Given the description of an element on the screen output the (x, y) to click on. 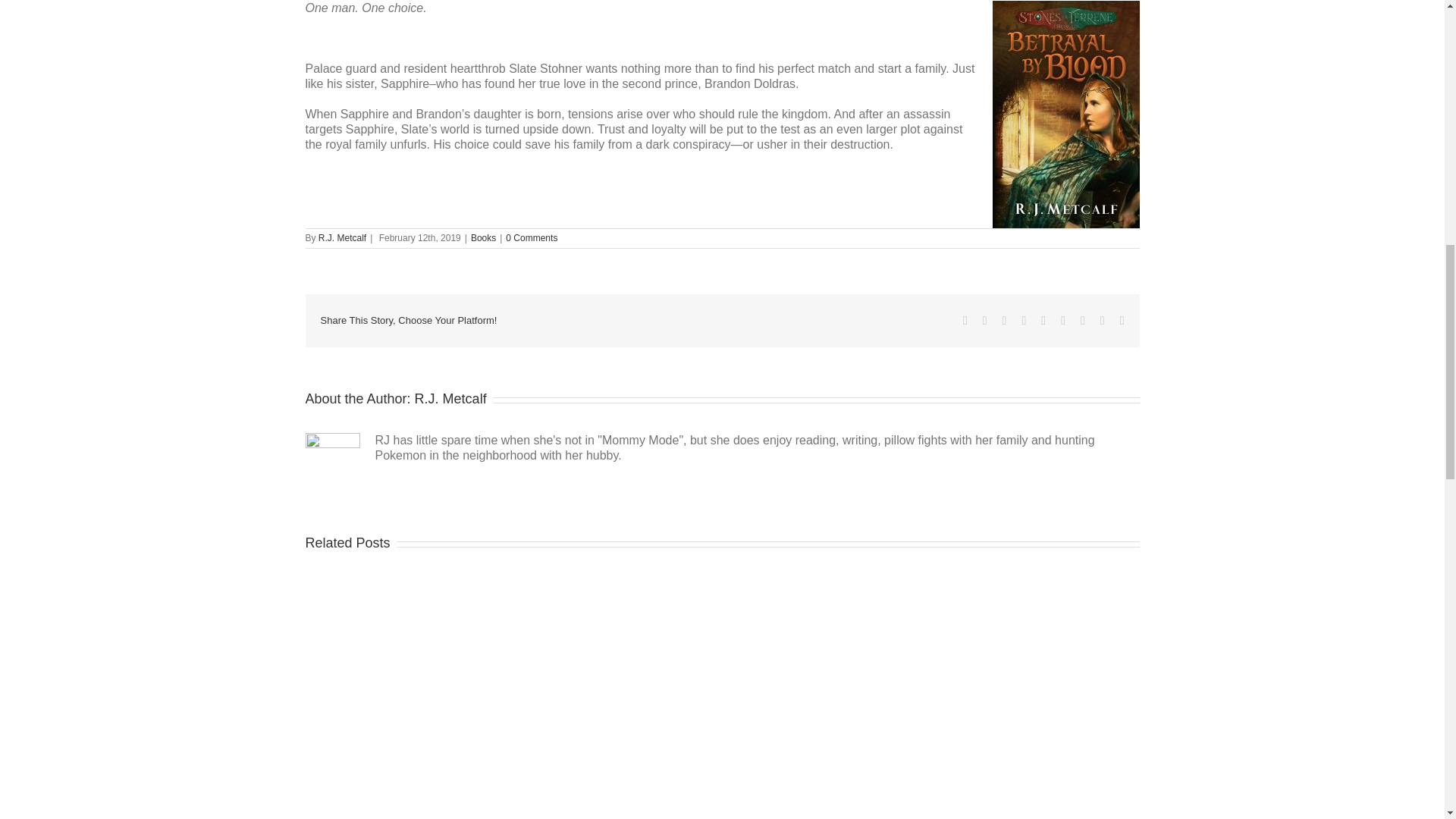
Posts by R.J. Metcalf (450, 398)
0 Comments (531, 237)
R.J. Metcalf (342, 237)
Books (483, 237)
Posts by R.J. Metcalf (342, 237)
R.J. Metcalf (450, 398)
